Given the description of an element on the screen output the (x, y) to click on. 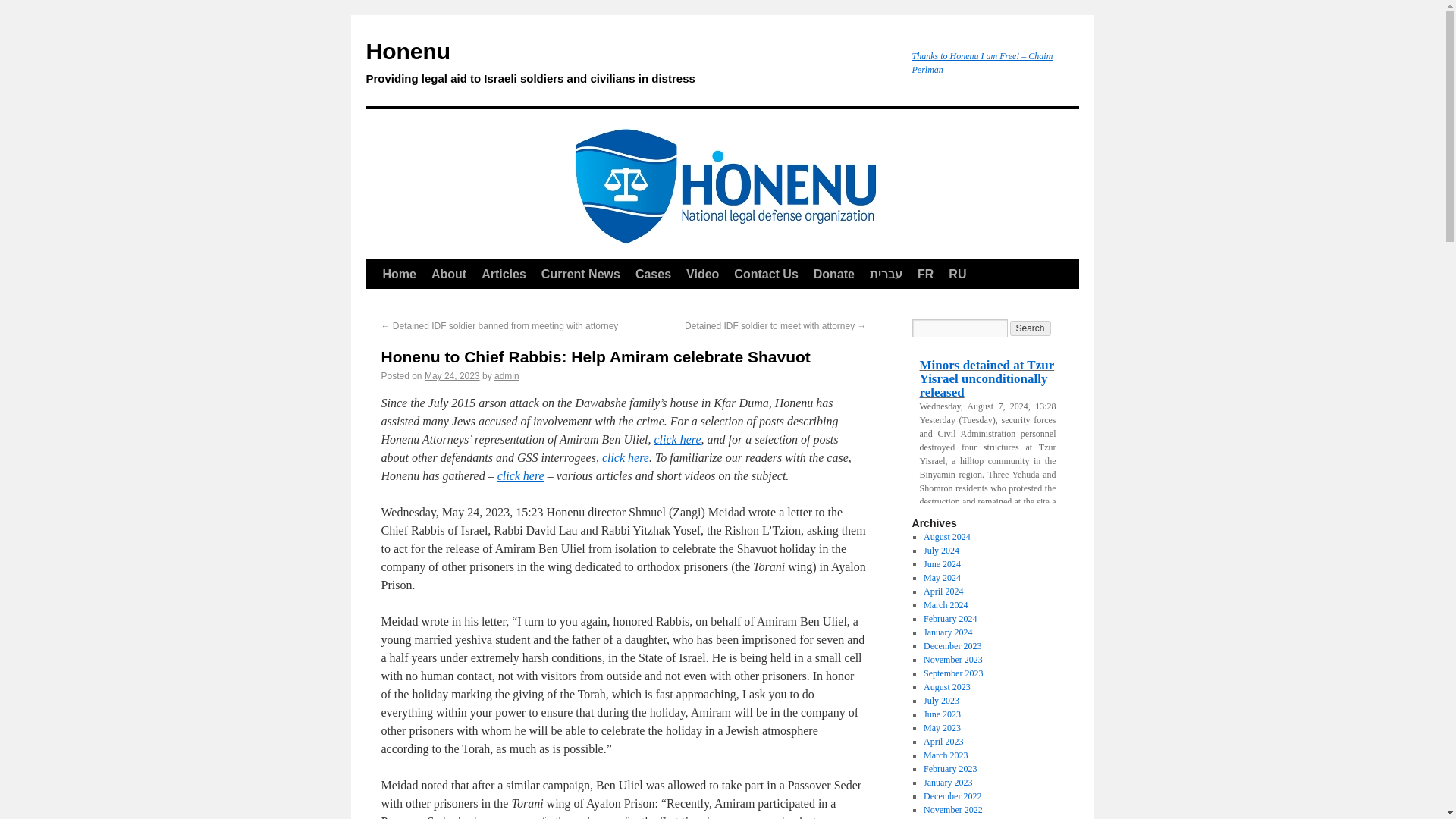
View all posts by admin (507, 376)
Minors detained at Tzur Yisrael unconditionally released (986, 378)
About (448, 274)
Articles (504, 274)
Home (398, 274)
Cases (652, 274)
12:38 pm (452, 376)
Current News (580, 274)
Search (1030, 328)
